Given the description of an element on the screen output the (x, y) to click on. 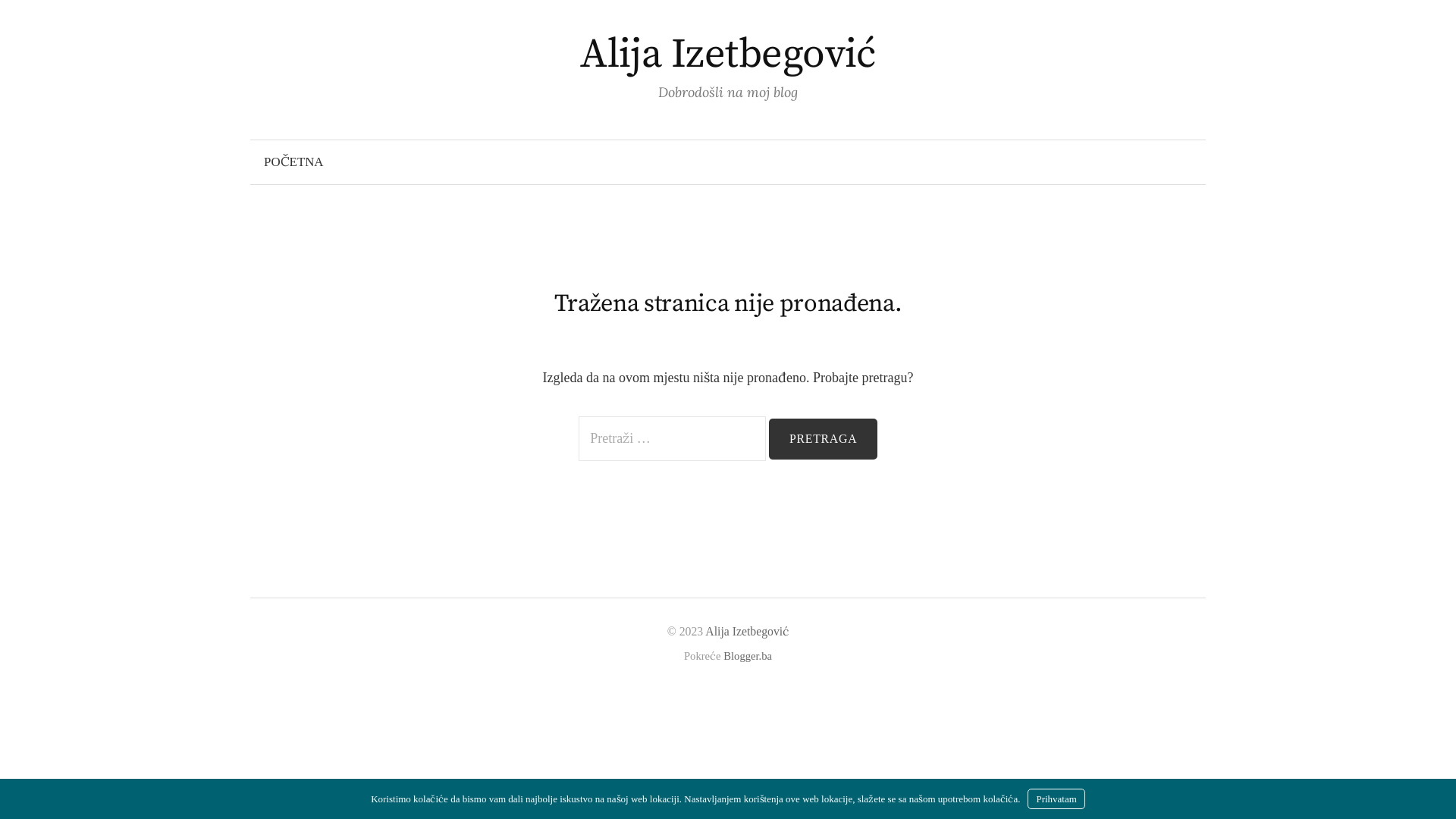
Prihvatam Element type: text (1055, 798)
Blogger.ba Element type: text (747, 655)
Pretraga Element type: text (822, 438)
Pretraga Element type: text (18, 18)
